Given the description of an element on the screen output the (x, y) to click on. 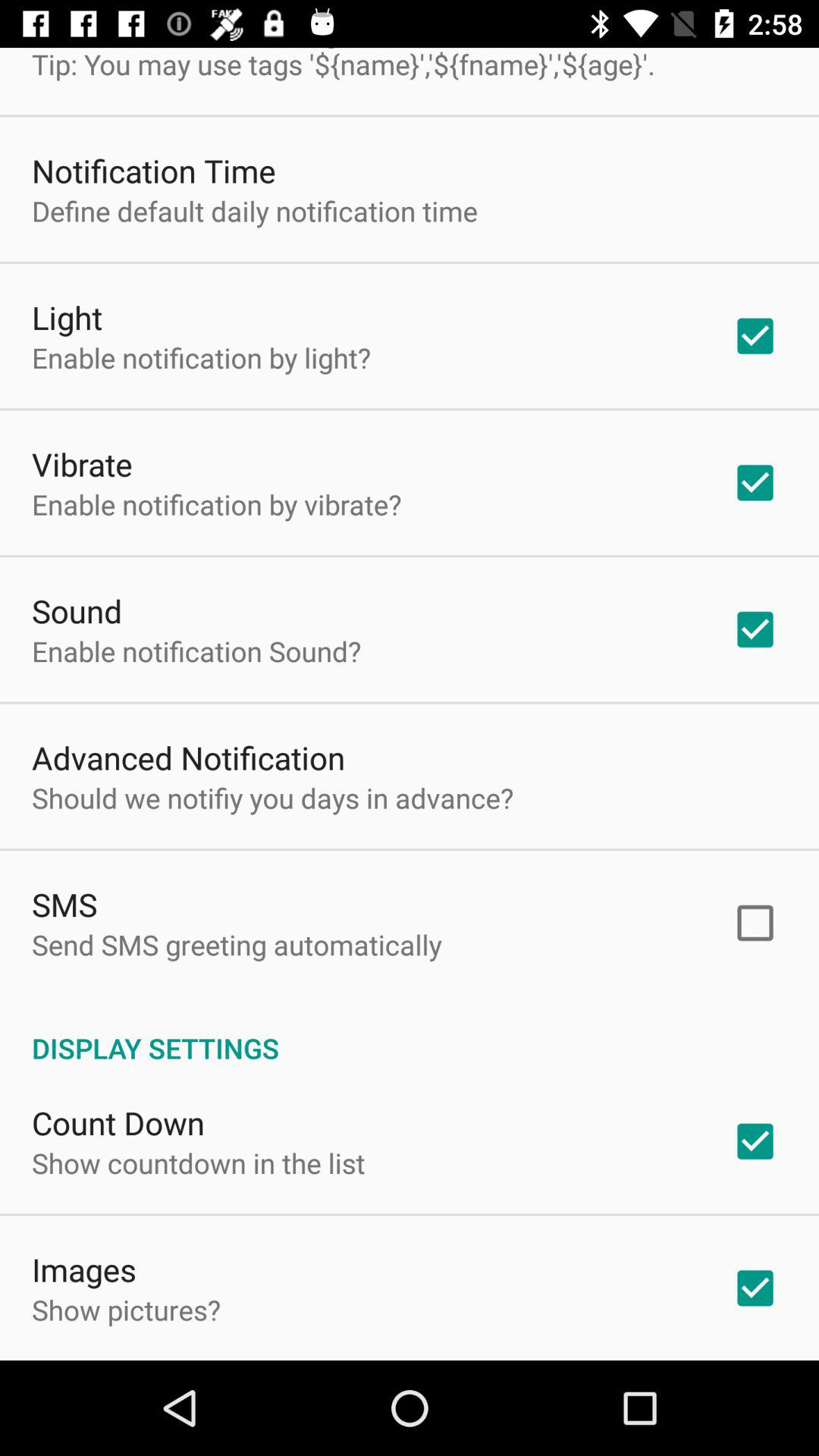
turn off icon above the show pictures? (83, 1269)
